Given the description of an element on the screen output the (x, y) to click on. 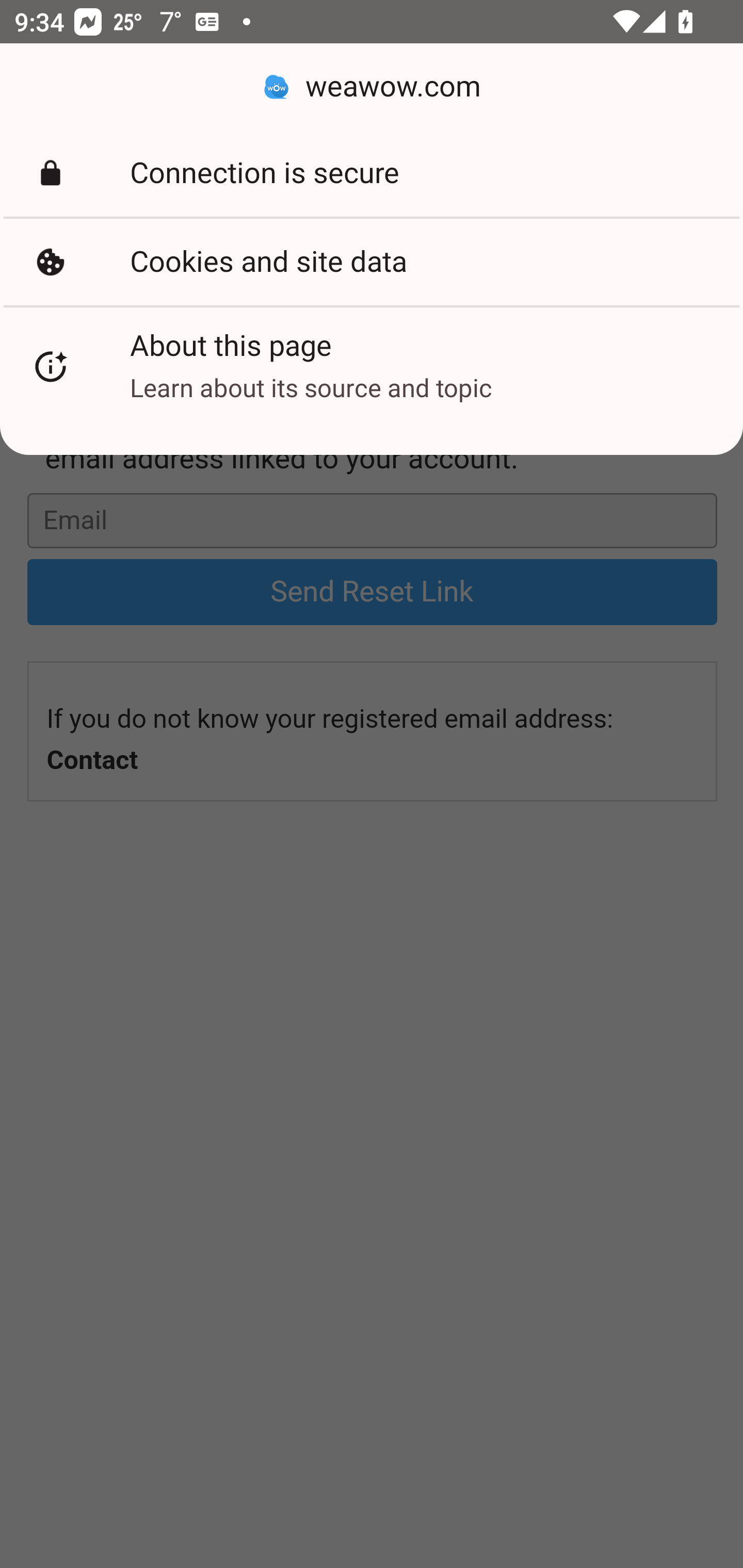
weawow.com (371, 86)
Connection is secure (371, 173)
Cookies and site data (371, 261)
About this page Learn about its source and topic (371, 366)
